Given the description of an element on the screen output the (x, y) to click on. 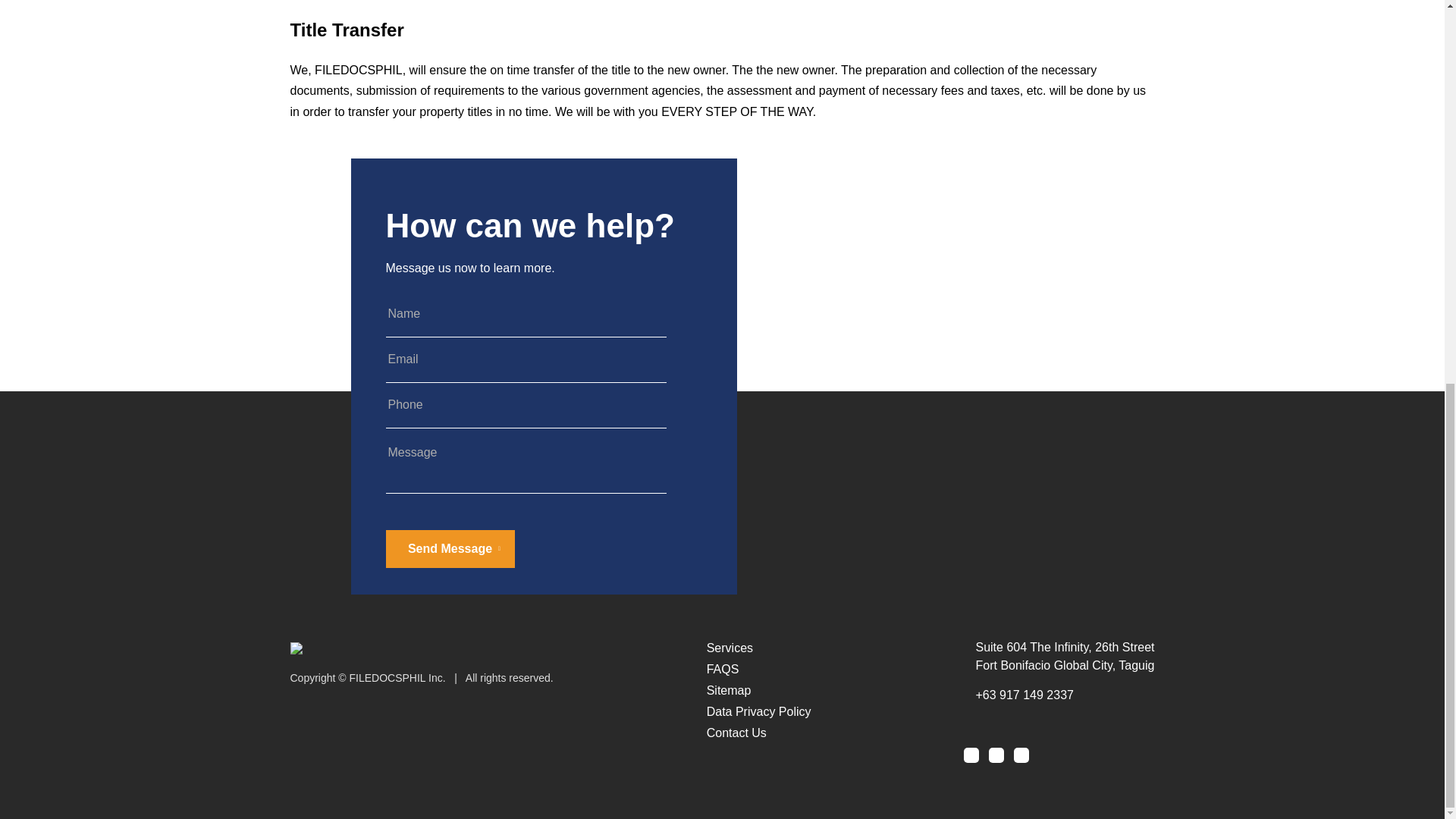
Send Message (449, 548)
